Given the description of an element on the screen output the (x, y) to click on. 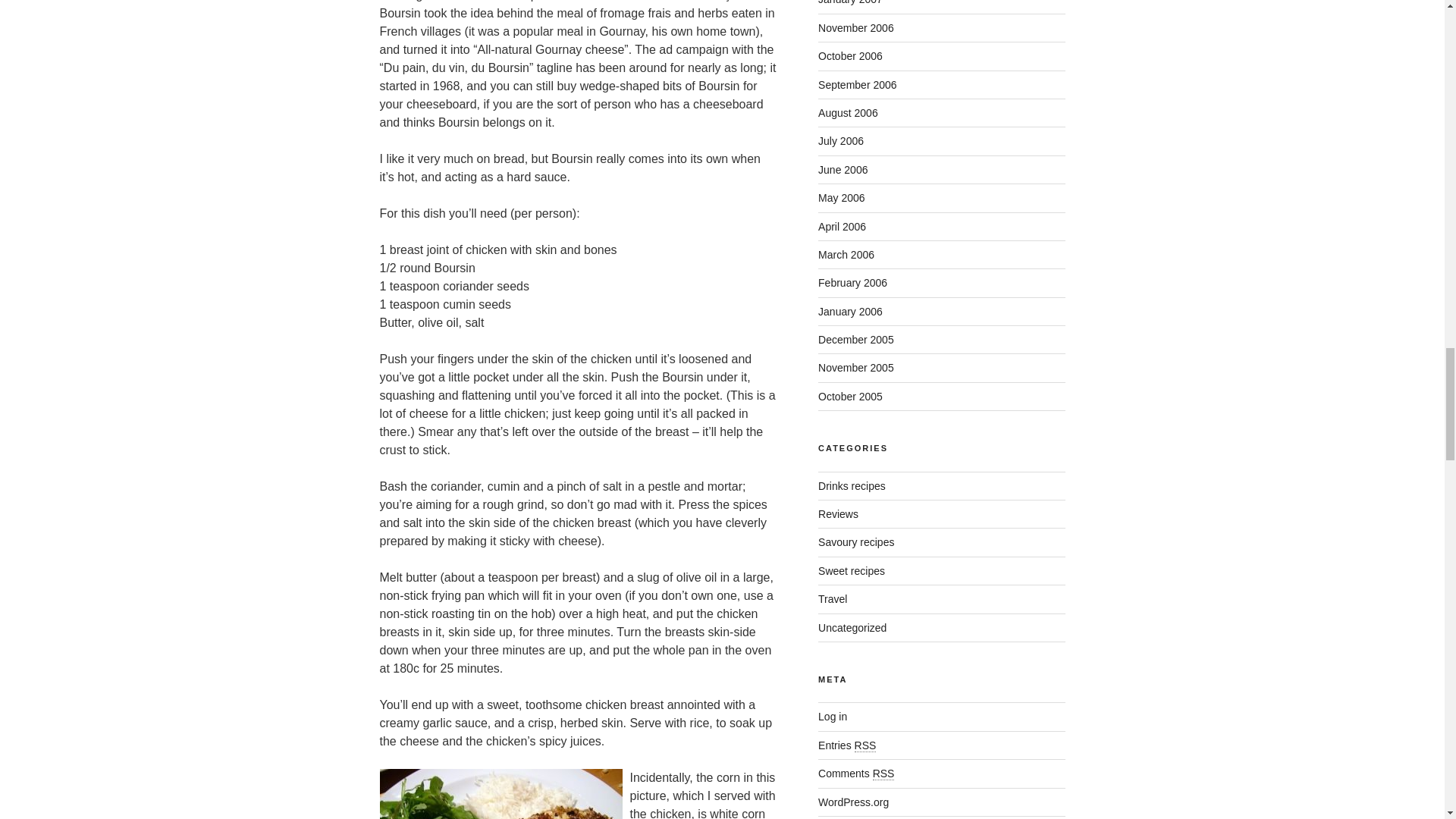
Really Simple Syndication (883, 773)
Really Simple Syndication (865, 745)
